Given the description of an element on the screen output the (x, y) to click on. 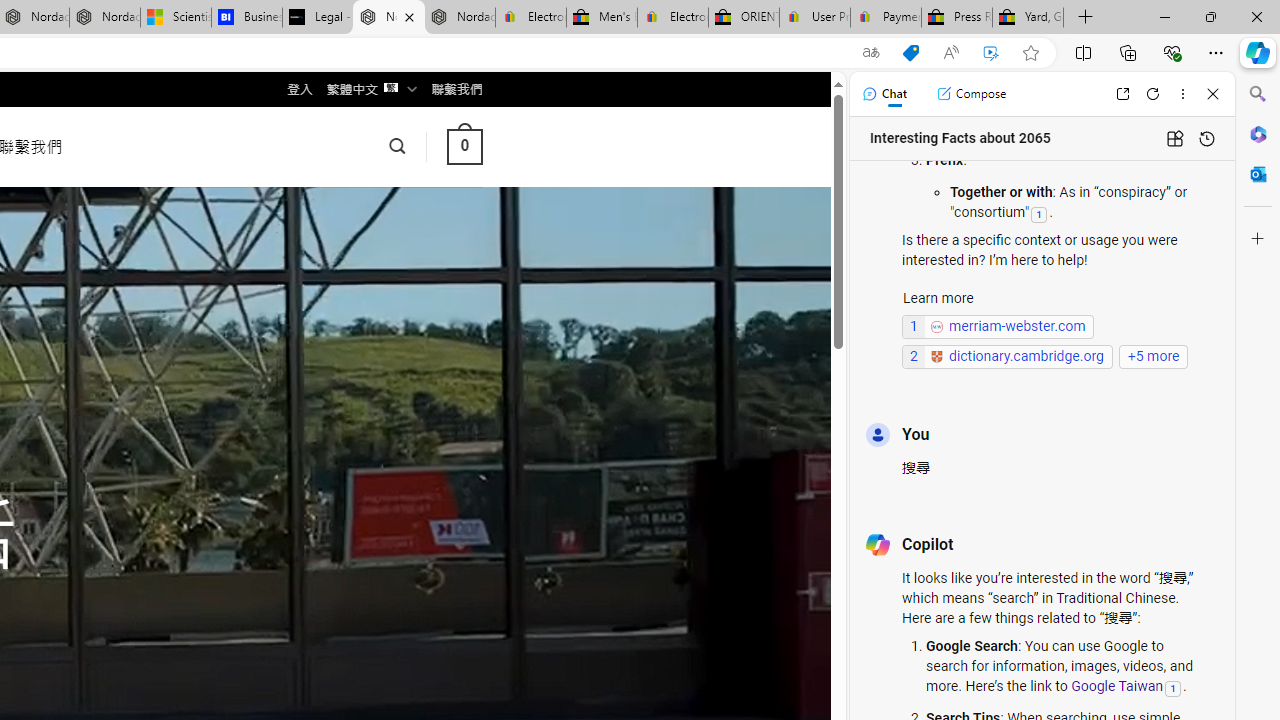
This site has coupons! Shopping in Microsoft Edge (910, 53)
Chat (884, 93)
User Privacy Notice | eBay (814, 17)
Compose (971, 93)
